Given the description of an element on the screen output the (x, y) to click on. 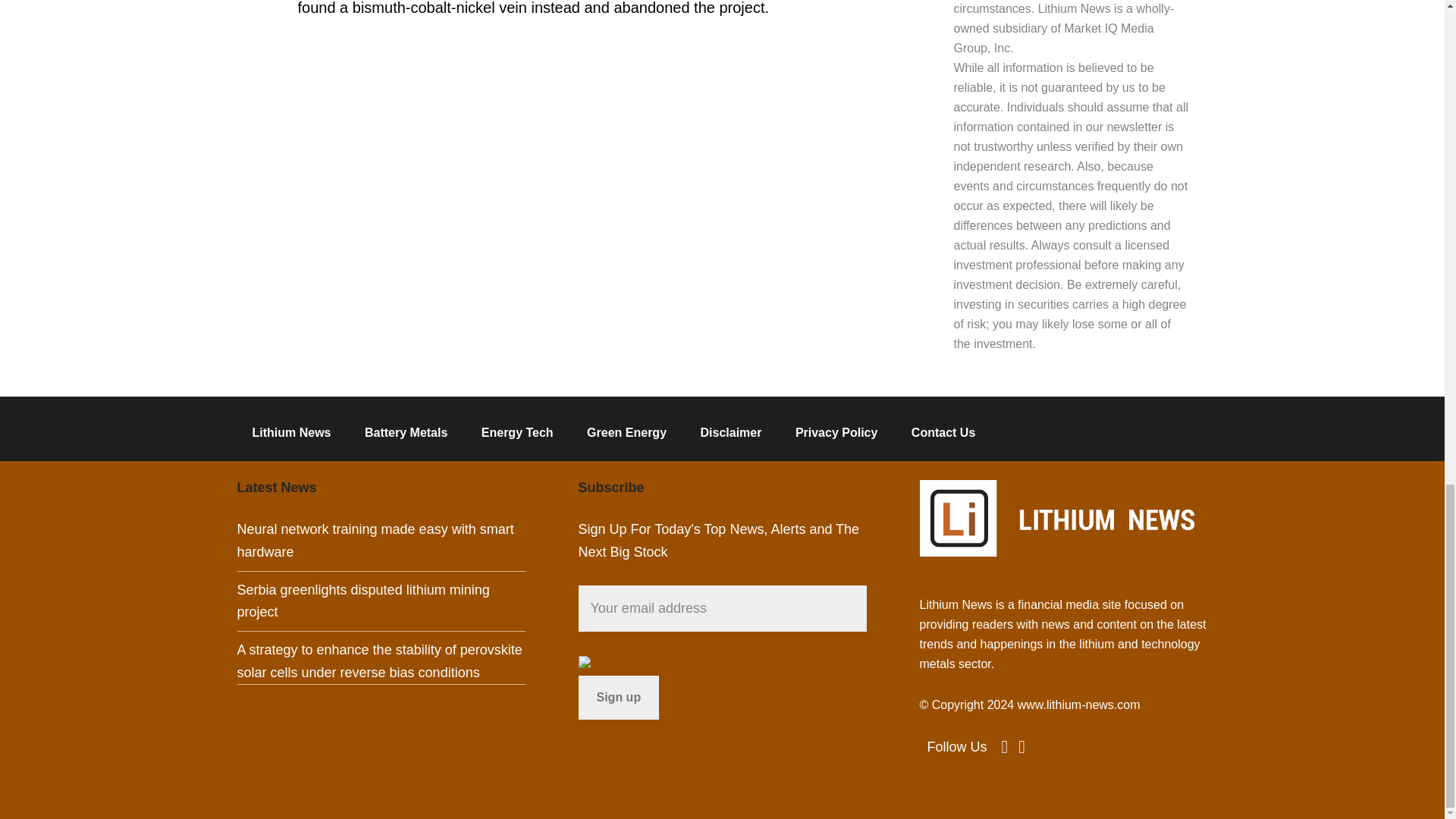
Privacy Policy (836, 428)
Serbia greenlights disputed lithium mining project (362, 600)
Disclaimer (730, 428)
Green Energy (626, 428)
Battery Metals (406, 428)
Energy Tech (517, 428)
Neural network training made easy with smart hardware (374, 539)
Contact Us (943, 428)
Sign up (618, 697)
Sign up (618, 697)
Lithium News (290, 428)
